Given the description of an element on the screen output the (x, y) to click on. 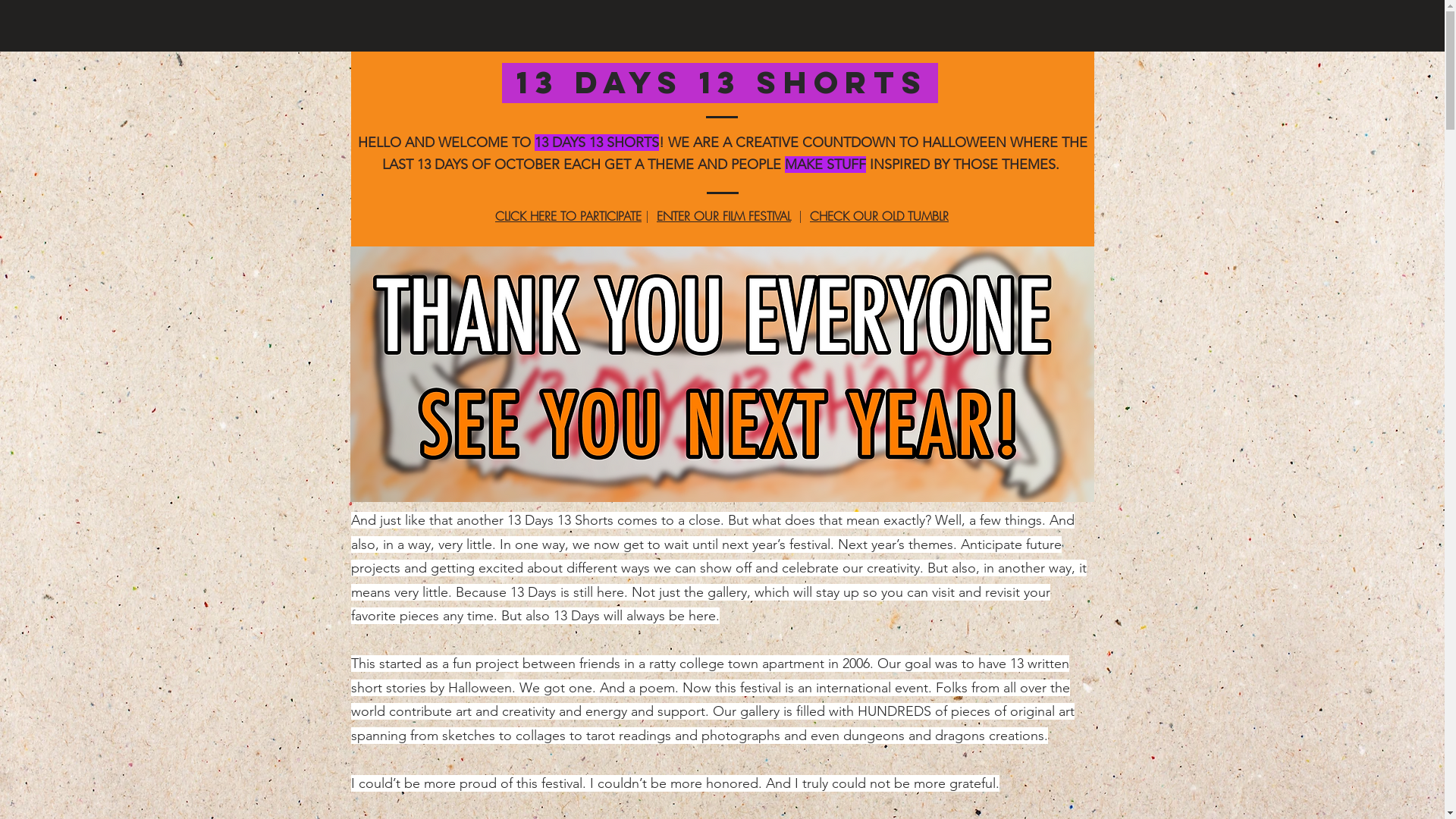
ENTER OUR FILM FESTIVAL Element type: text (723, 215)
CLICK HERE TO PARTICIPATE Element type: text (568, 215)
CHECK OUR OLD TUMBLR Element type: text (878, 215)
